Given the description of an element on the screen output the (x, y) to click on. 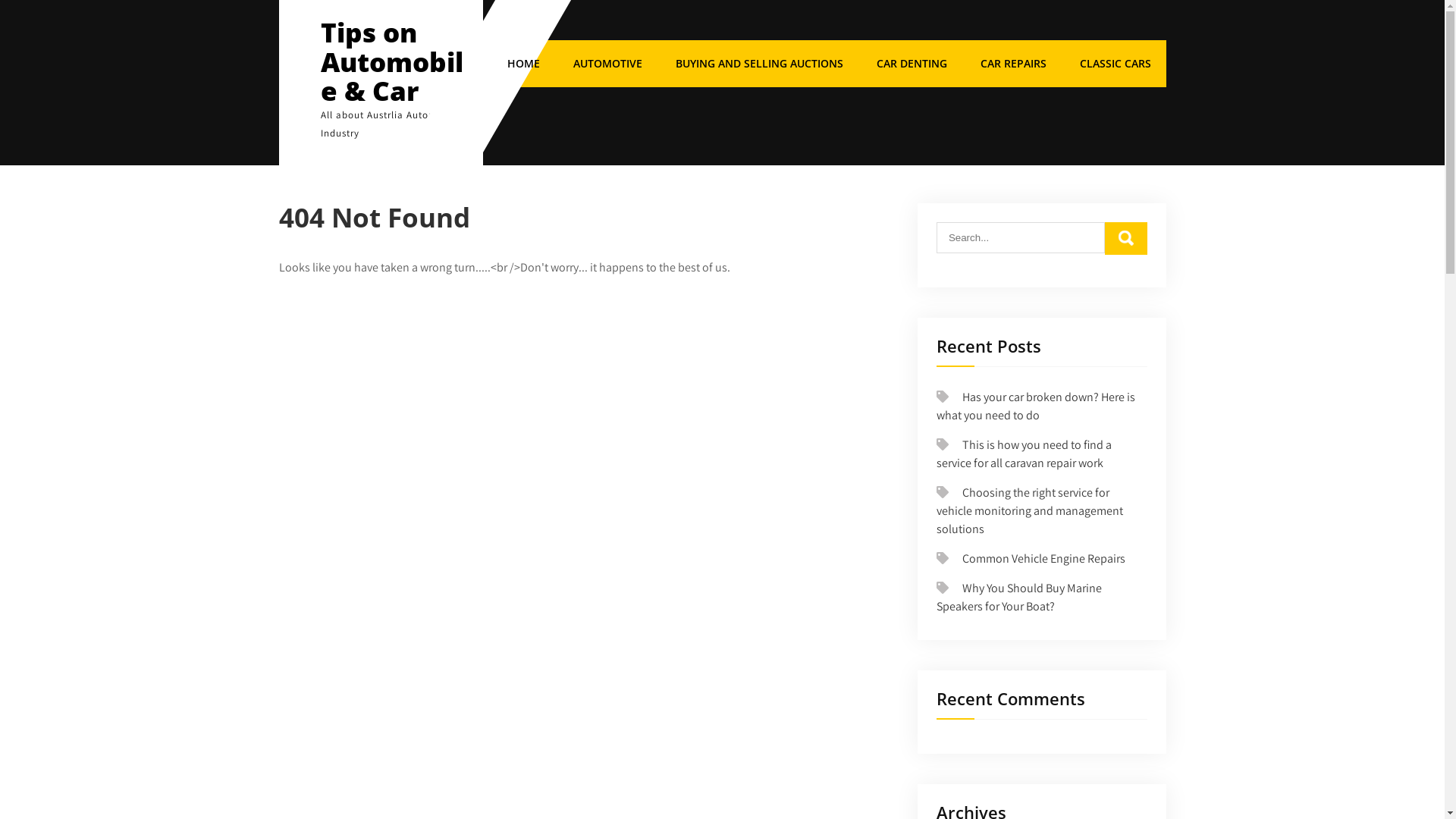
CLASSIC CARS Element type: text (1115, 63)
Common Vehicle Engine Repairs Element type: text (1043, 558)
HOME Element type: text (522, 63)
Tips on Automobile & Car Element type: text (391, 61)
Search Element type: text (1125, 237)
CAR DENTING Element type: text (911, 63)
AUTOMOTIVE Element type: text (607, 63)
BUYING AND SELLING AUCTIONS Element type: text (758, 63)
Why You Should Buy Marine Speakers for Your Boat? Element type: text (1018, 597)
CAR REPAIRS Element type: text (1012, 63)
Has your car broken down? Here is what you need to do Element type: text (1035, 406)
